Given the description of an element on the screen output the (x, y) to click on. 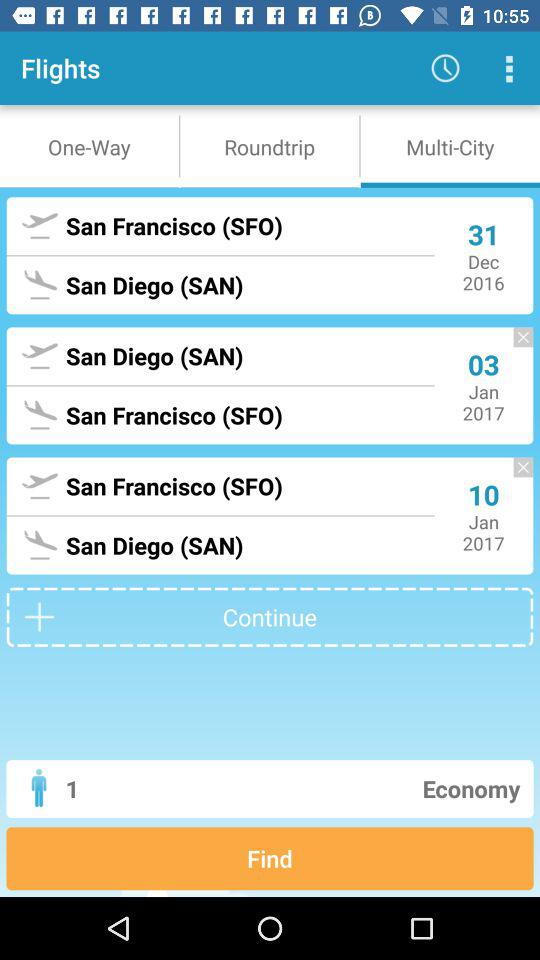
delete suggested trip (513, 346)
